Given the description of an element on the screen output the (x, y) to click on. 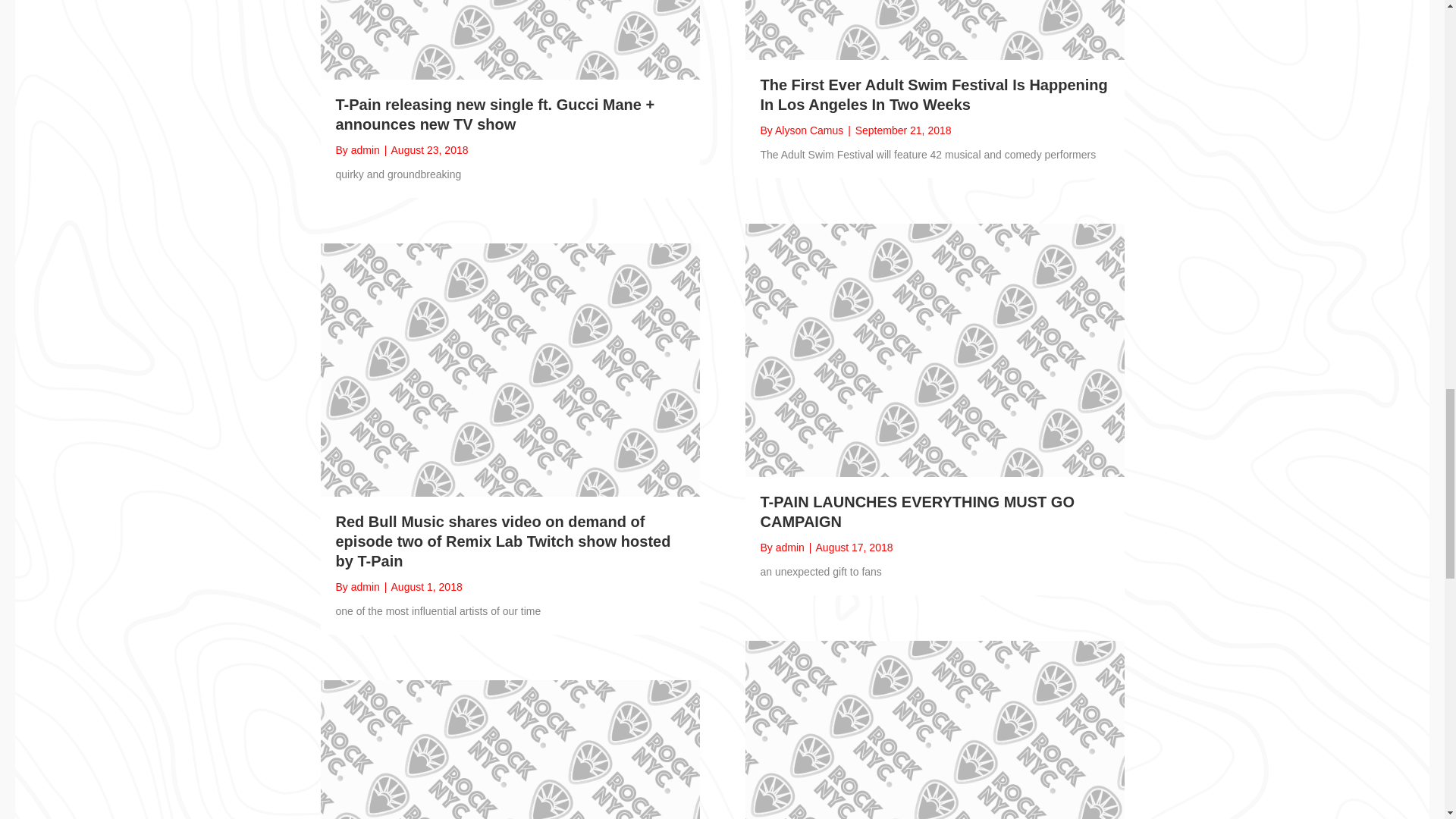
admin (365, 150)
Alyson Camus (808, 130)
